Given the description of an element on the screen output the (x, y) to click on. 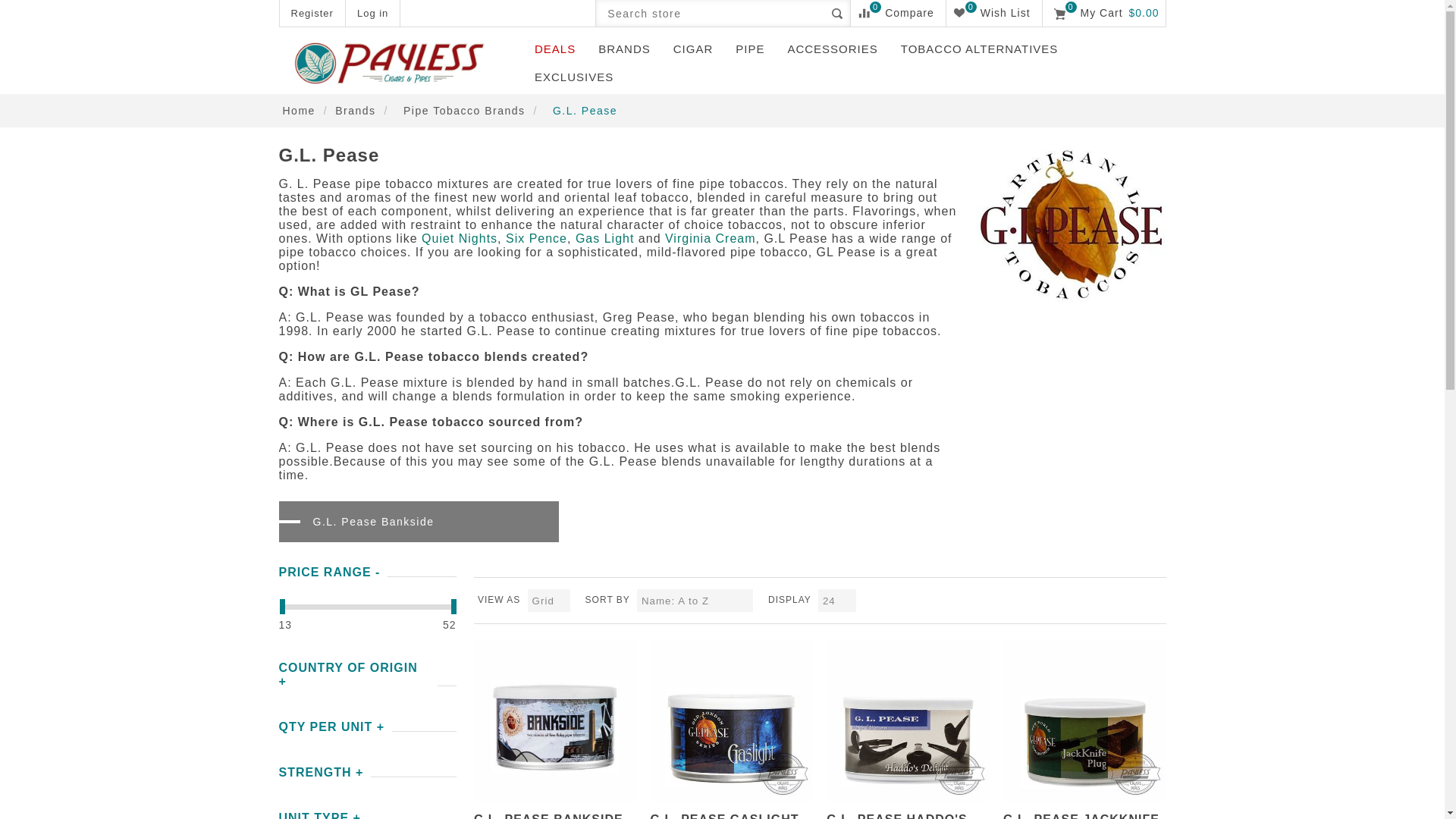
PIPE (749, 49)
Register (311, 13)
CIGAR (897, 13)
Log in (692, 49)
DEALS (372, 13)
Search (554, 49)
BRANDS (837, 13)
